Given the description of an element on the screen output the (x, y) to click on. 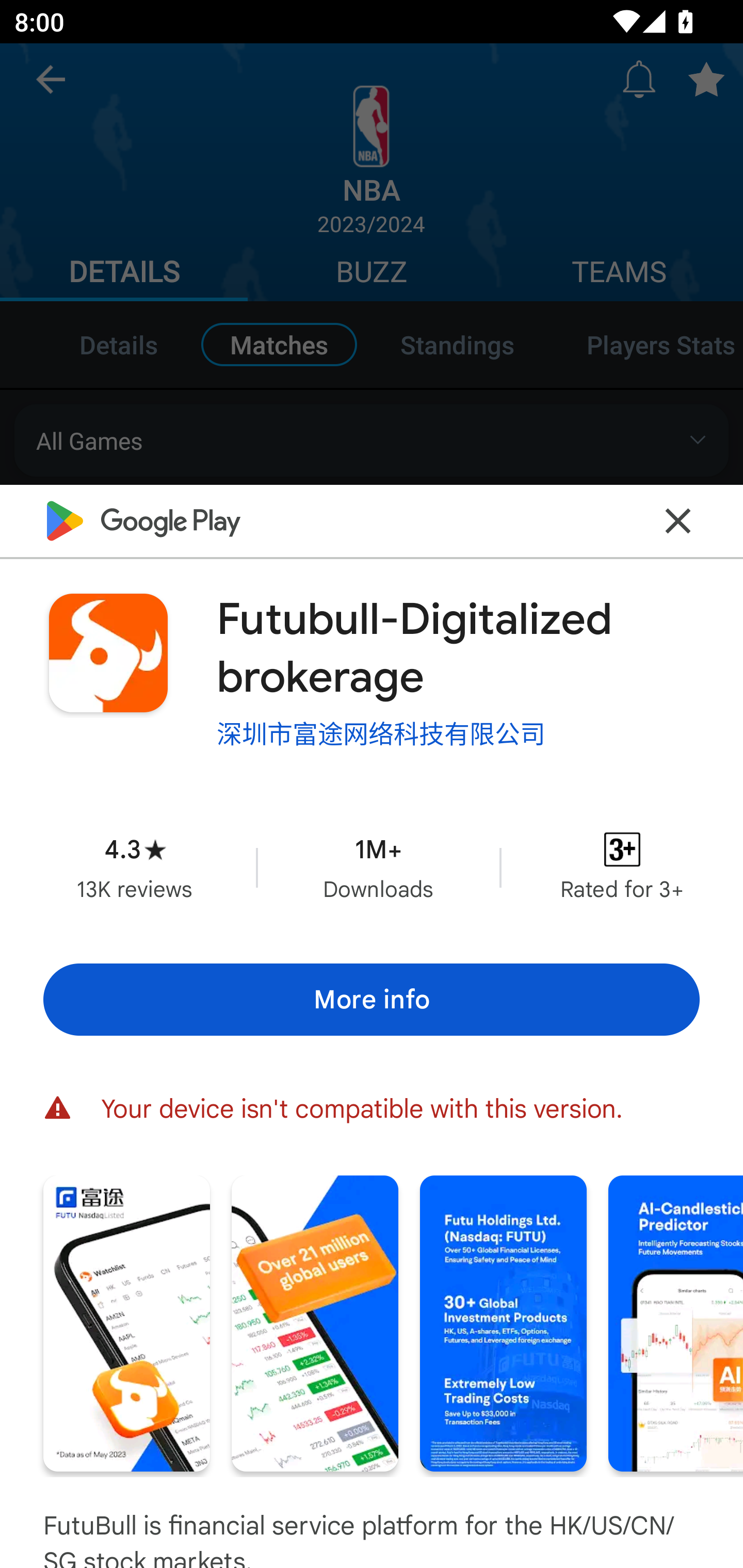
Close (677, 520)
深圳市富途网络科技有限公司 (380, 733)
More info (371, 999)
Screenshot "1" of "8" (126, 1323)
Screenshot "2" of "8" (314, 1323)
Screenshot "3" of "8" (502, 1323)
Screenshot "4" of "8" (675, 1323)
